Given the description of an element on the screen output the (x, y) to click on. 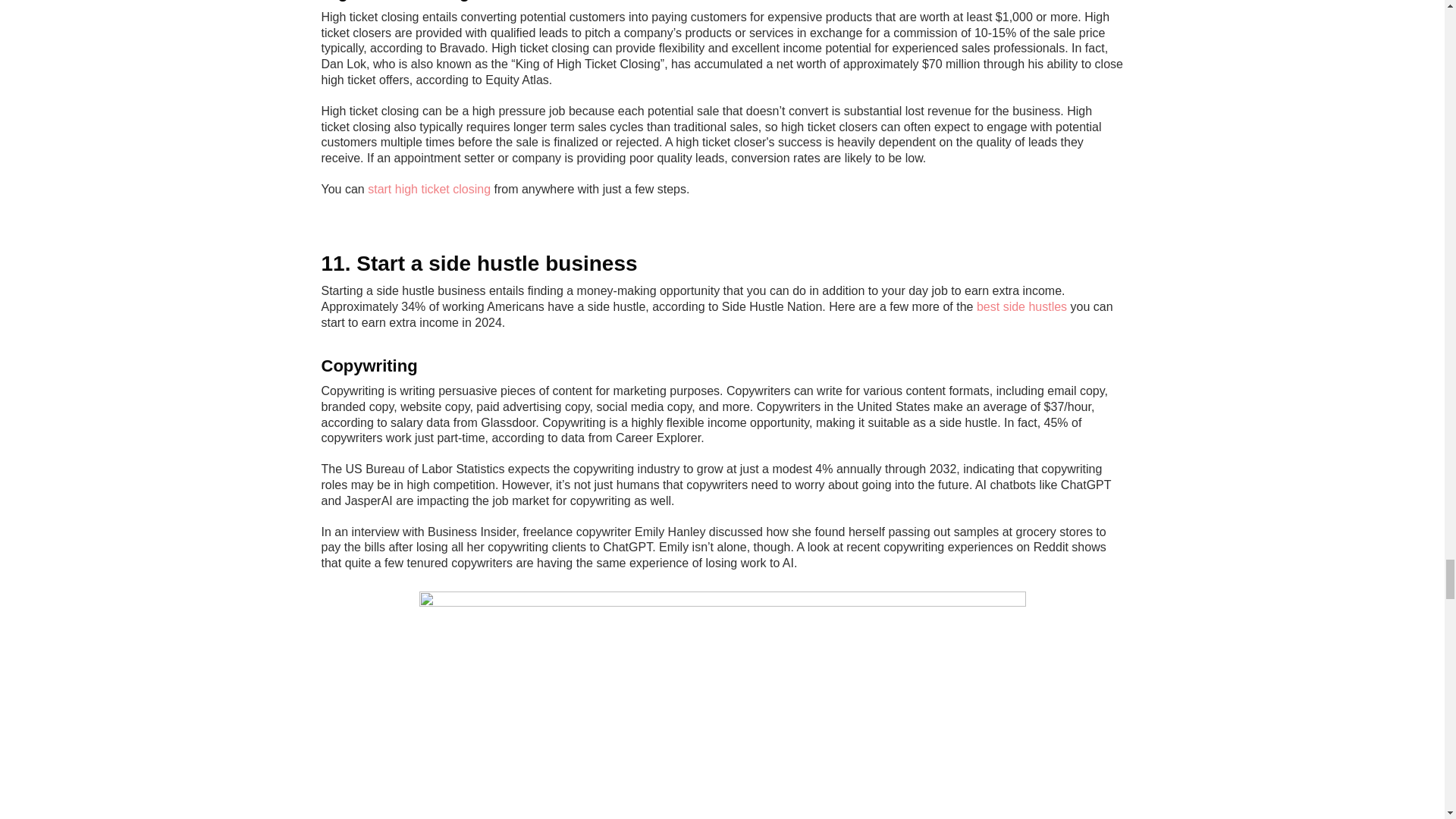
best side hustles (1021, 306)
start high ticket closing (429, 188)
